Given the description of an element on the screen output the (x, y) to click on. 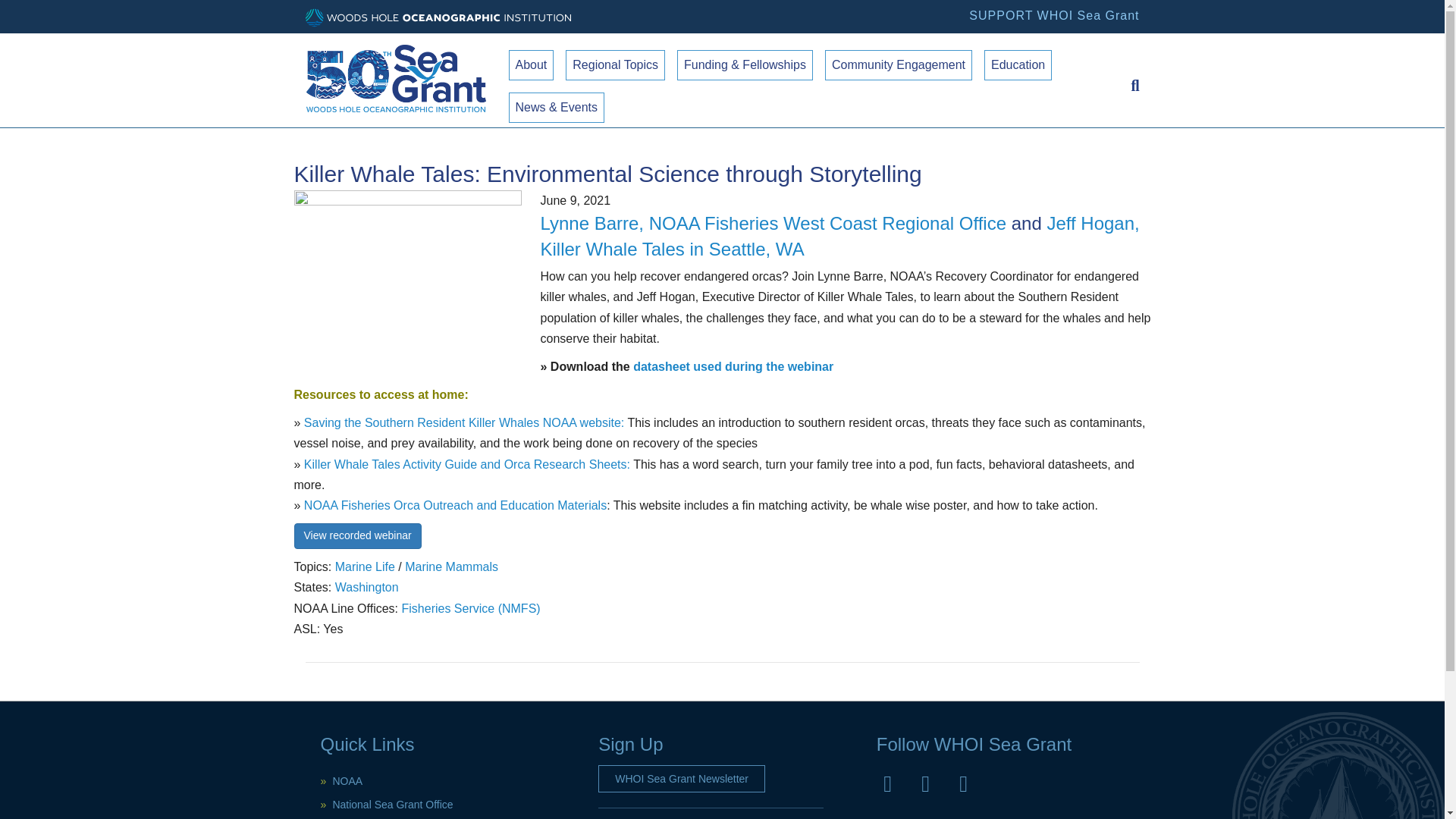
Community Engagement (898, 64)
Facebook (887, 784)
Twitter (925, 784)
Instagram (963, 784)
Education (1017, 64)
SUPPORT WHOI Sea Grant (1053, 15)
Regional Topics (615, 64)
About (530, 64)
